Given the description of an element on the screen output the (x, y) to click on. 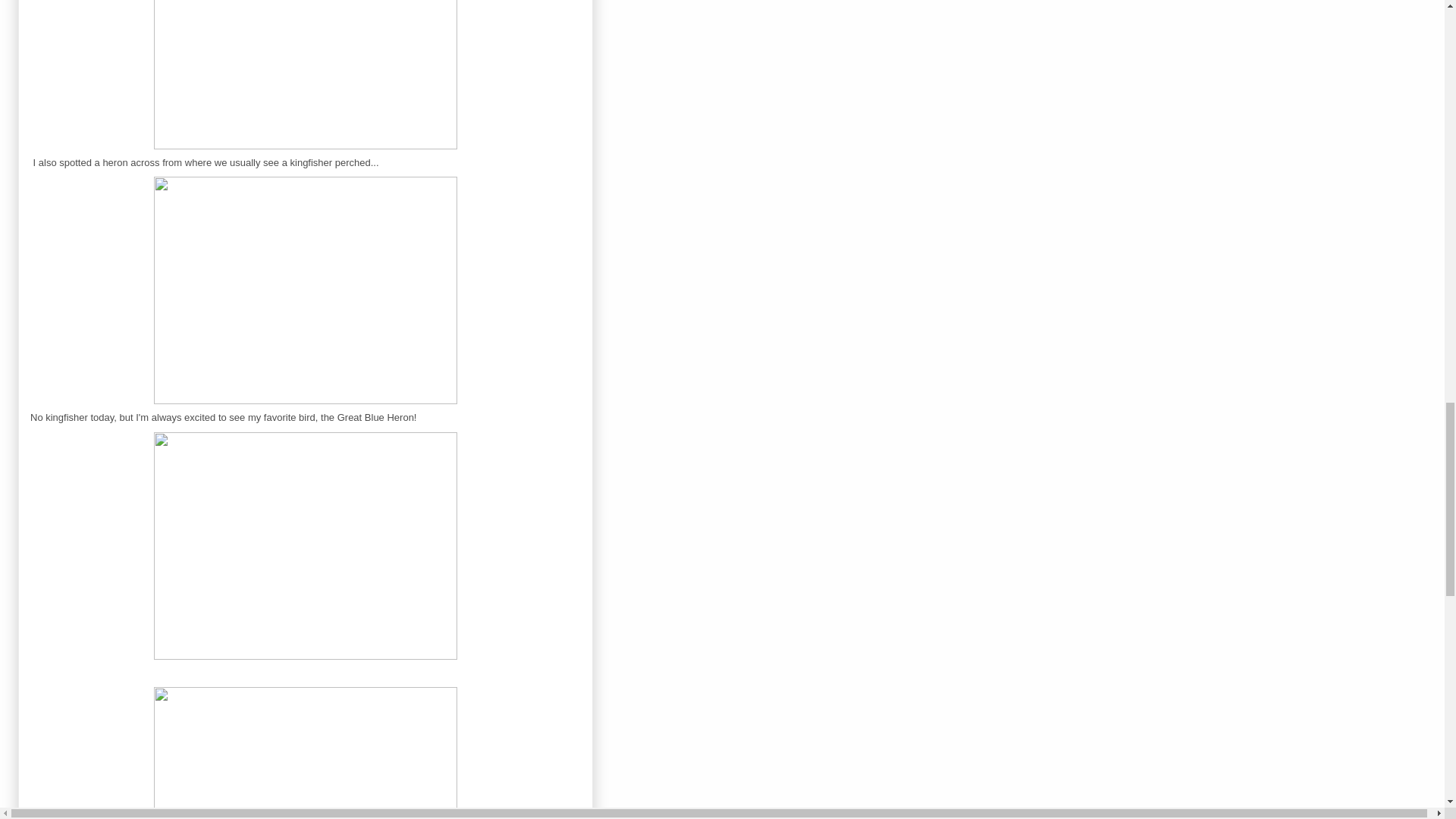
American Kestrel (305, 78)
Great Blue Heron (305, 749)
Great Blue Heron (305, 545)
Great Blue Heron (305, 290)
